Given the description of an element on the screen output the (x, y) to click on. 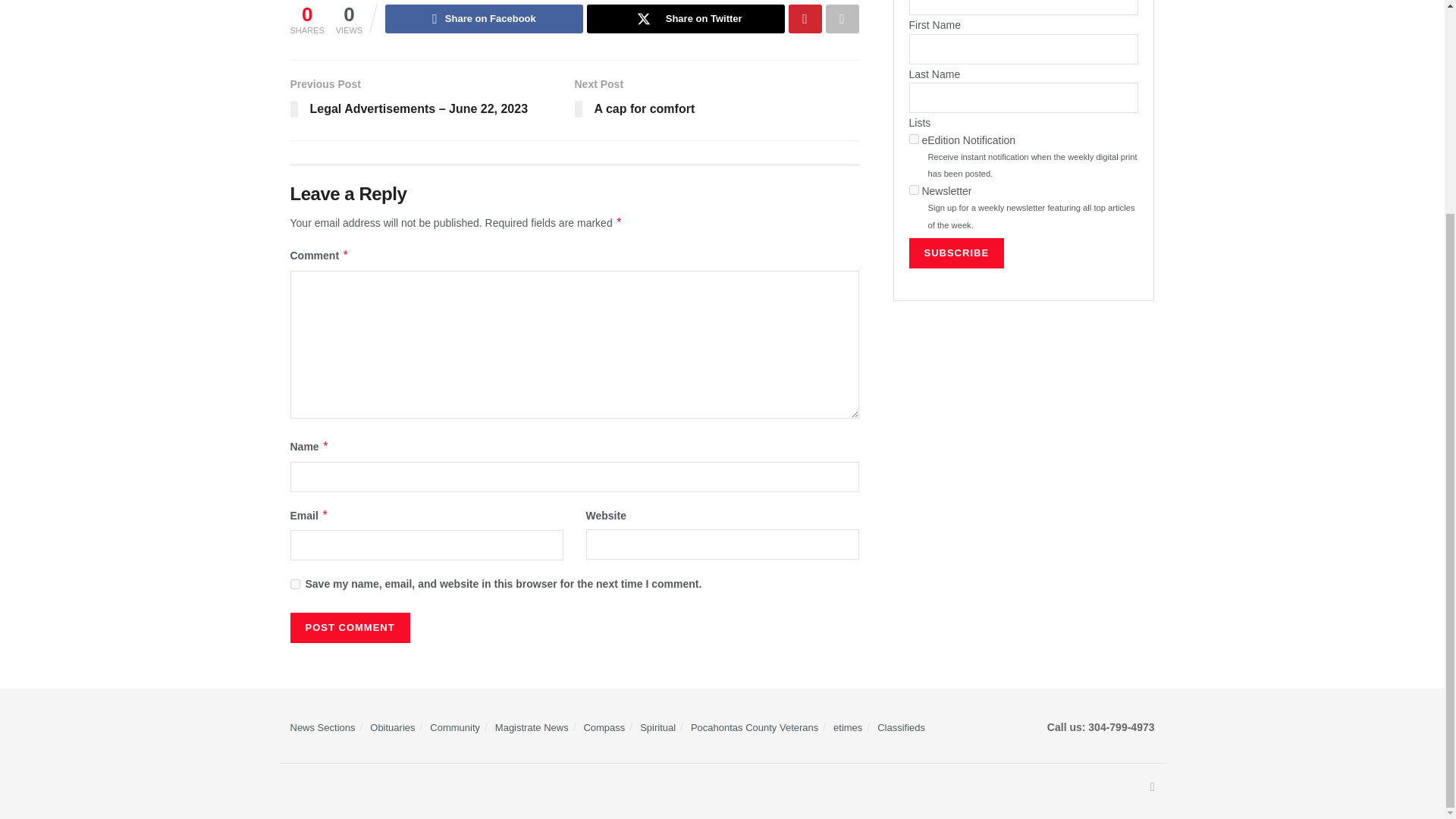
yes (294, 583)
1 (913, 139)
Subscribe (956, 253)
2 (913, 189)
Post Comment (349, 627)
